Given the description of an element on the screen output the (x, y) to click on. 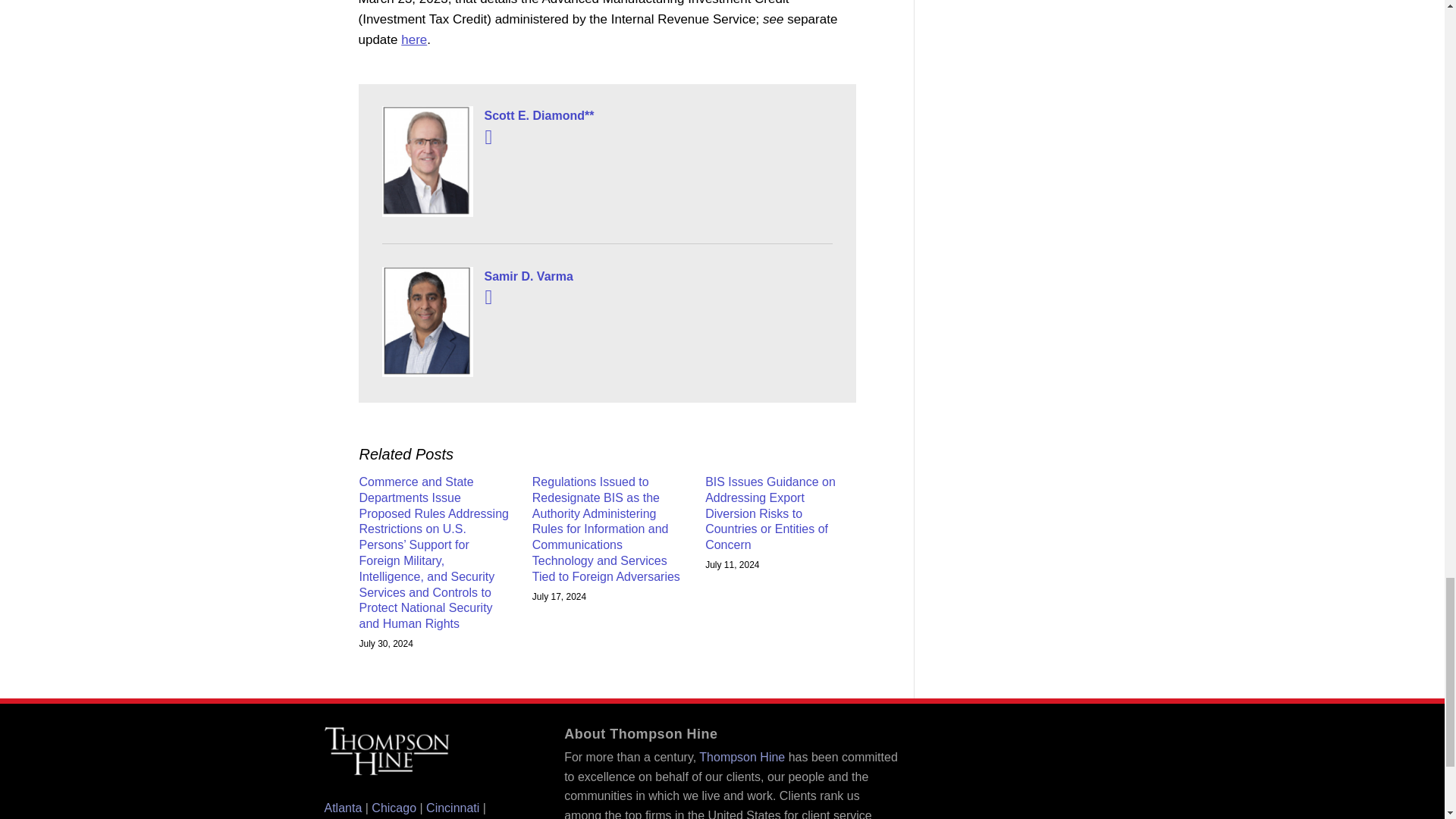
Samir D. Varma (606, 276)
here (413, 39)
Read more about Samir D. Varma (488, 297)
